Given the description of an element on the screen output the (x, y) to click on. 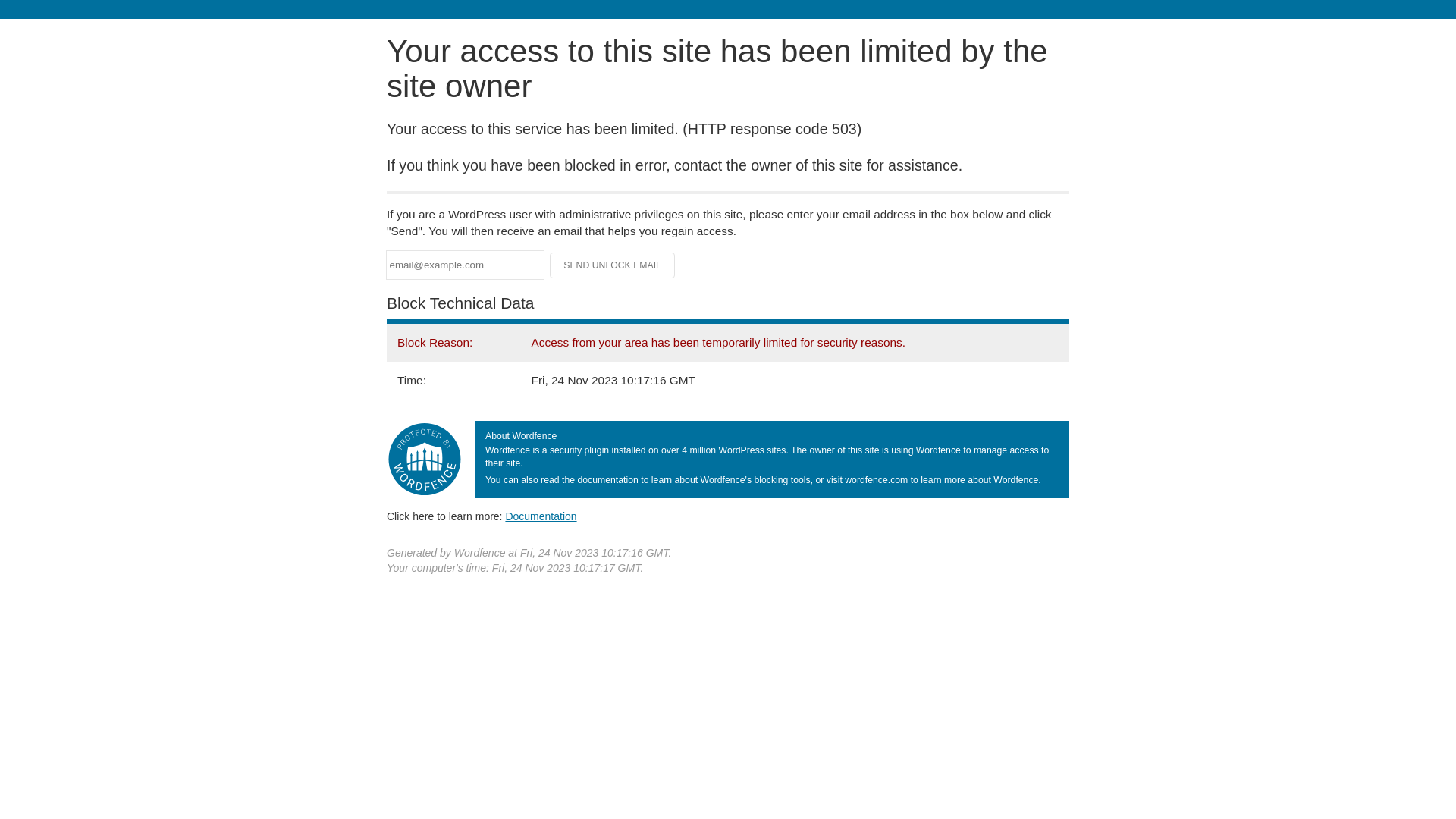
Documentation Element type: text (540, 516)
Send Unlock Email Element type: text (612, 265)
